Given the description of an element on the screen output the (x, y) to click on. 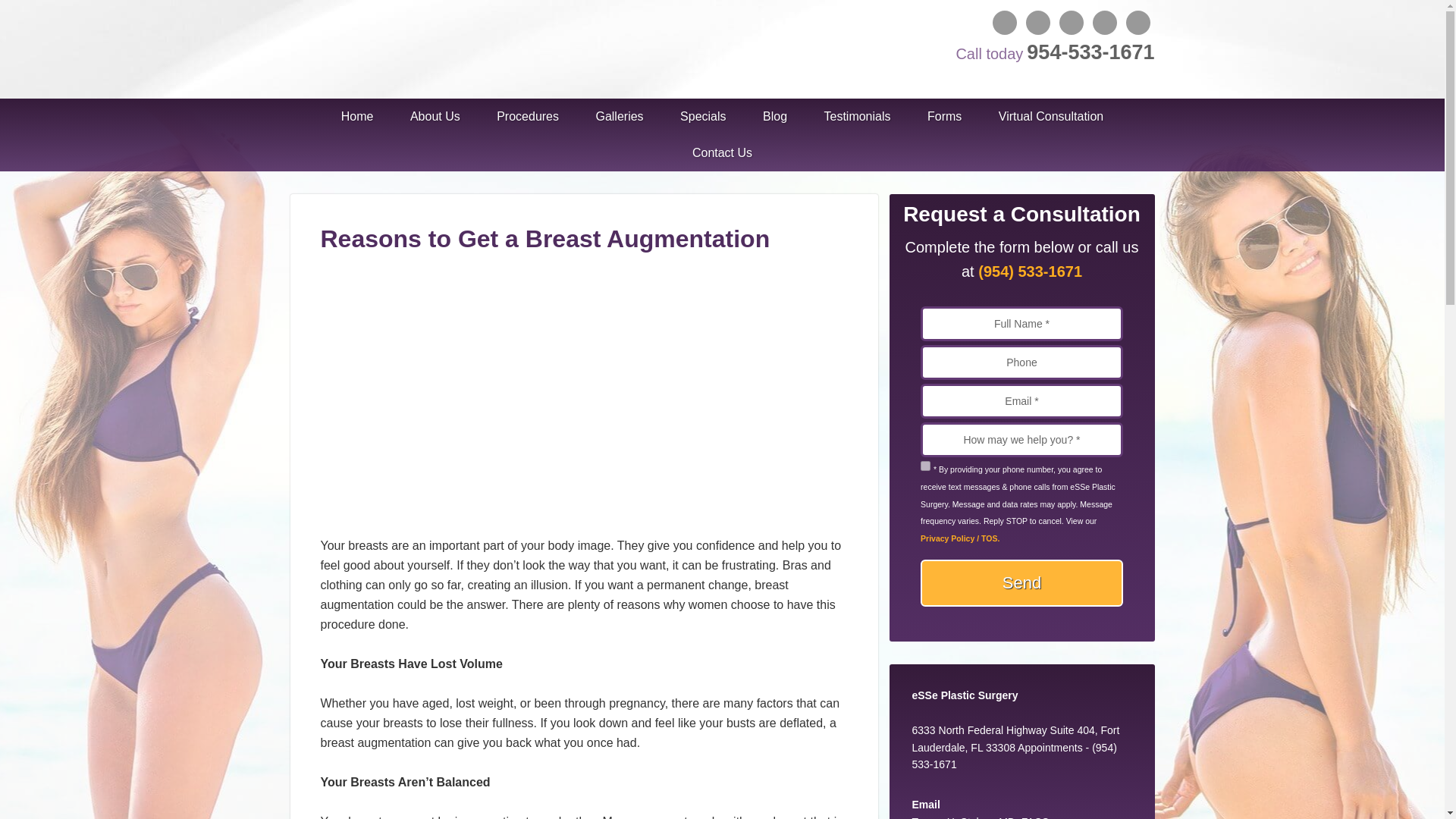
Home (357, 116)
1 (925, 465)
Privacy Policy (959, 537)
About Us (435, 116)
Reasons to Get a Breast Augmentation (580, 525)
Procedures (527, 116)
ESSE PLASTIC SURGERY (402, 45)
Send (1021, 582)
Call today954-533-1671 (1053, 52)
